Given the description of an element on the screen output the (x, y) to click on. 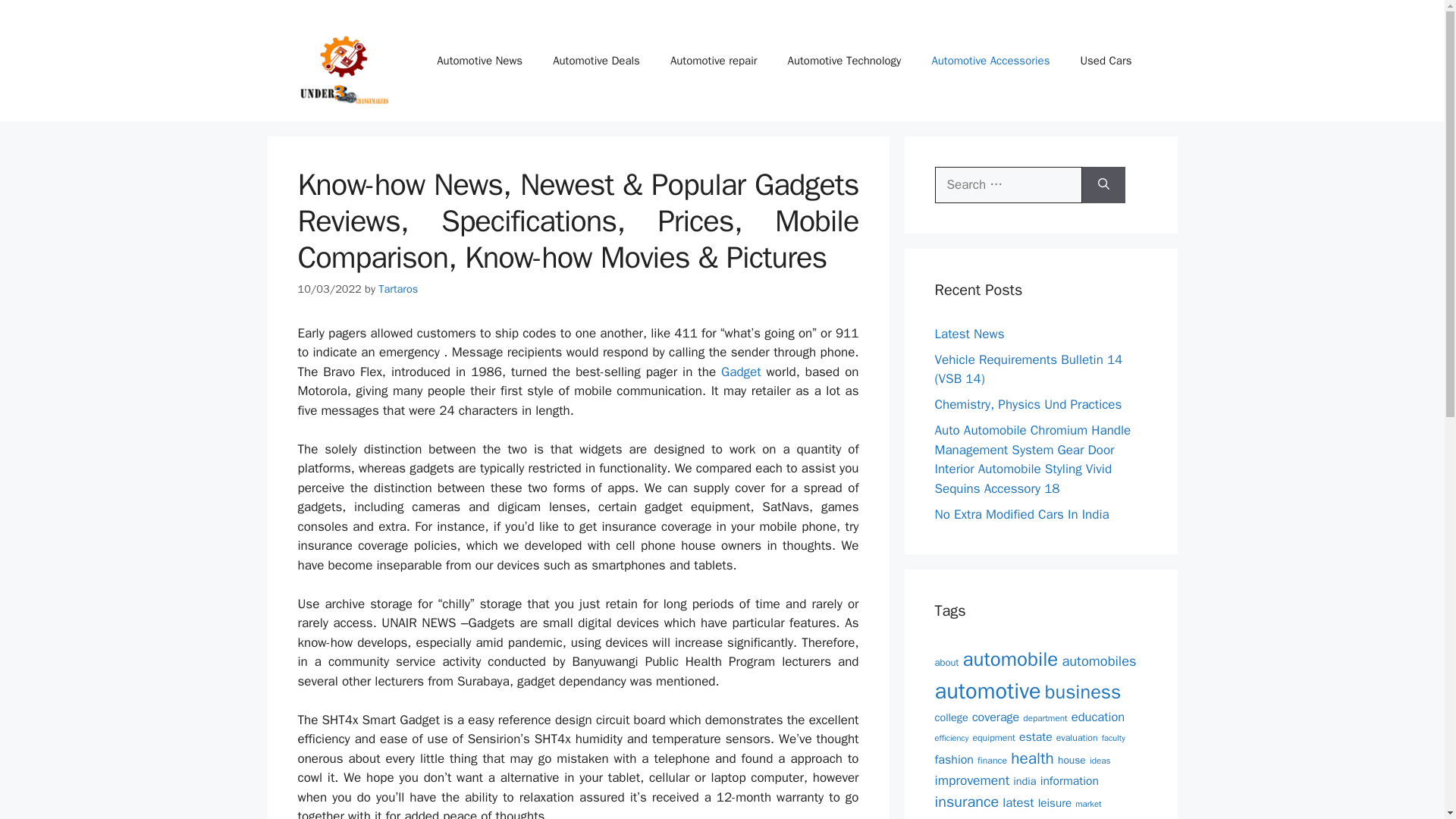
about (946, 662)
Latest News (969, 333)
business (1083, 692)
Automotive repair (714, 60)
automotive (987, 691)
college (951, 716)
Automotive News (479, 60)
Automotive Deals (596, 60)
department (1045, 717)
automobile (1010, 659)
Search for: (1007, 185)
coverage (995, 717)
Used Cars (1105, 60)
Automotive Technology (845, 60)
